Given the description of an element on the screen output the (x, y) to click on. 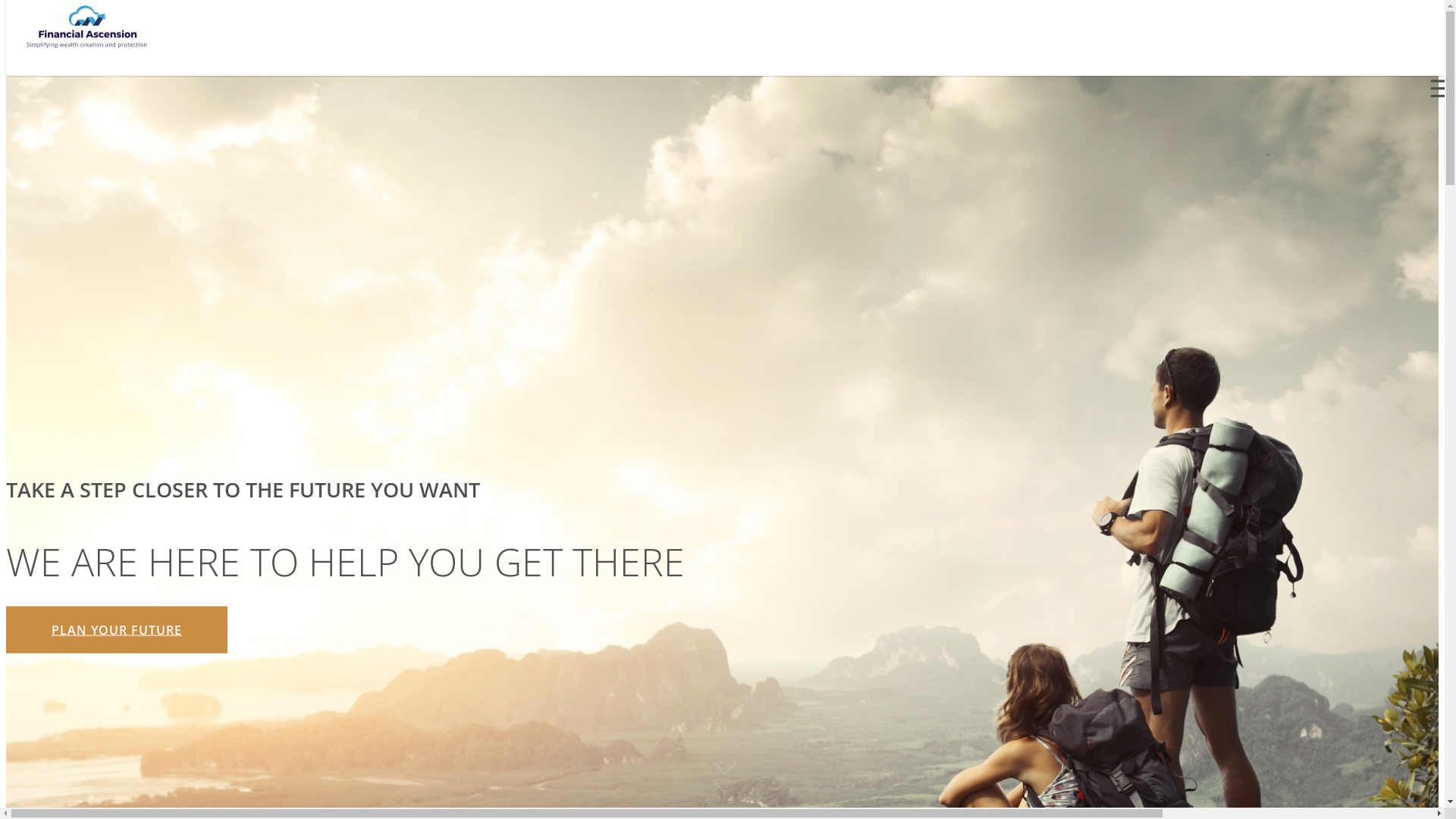
PLAN YOUR FUTURE Element type: text (116, 628)
